Given the description of an element on the screen output the (x, y) to click on. 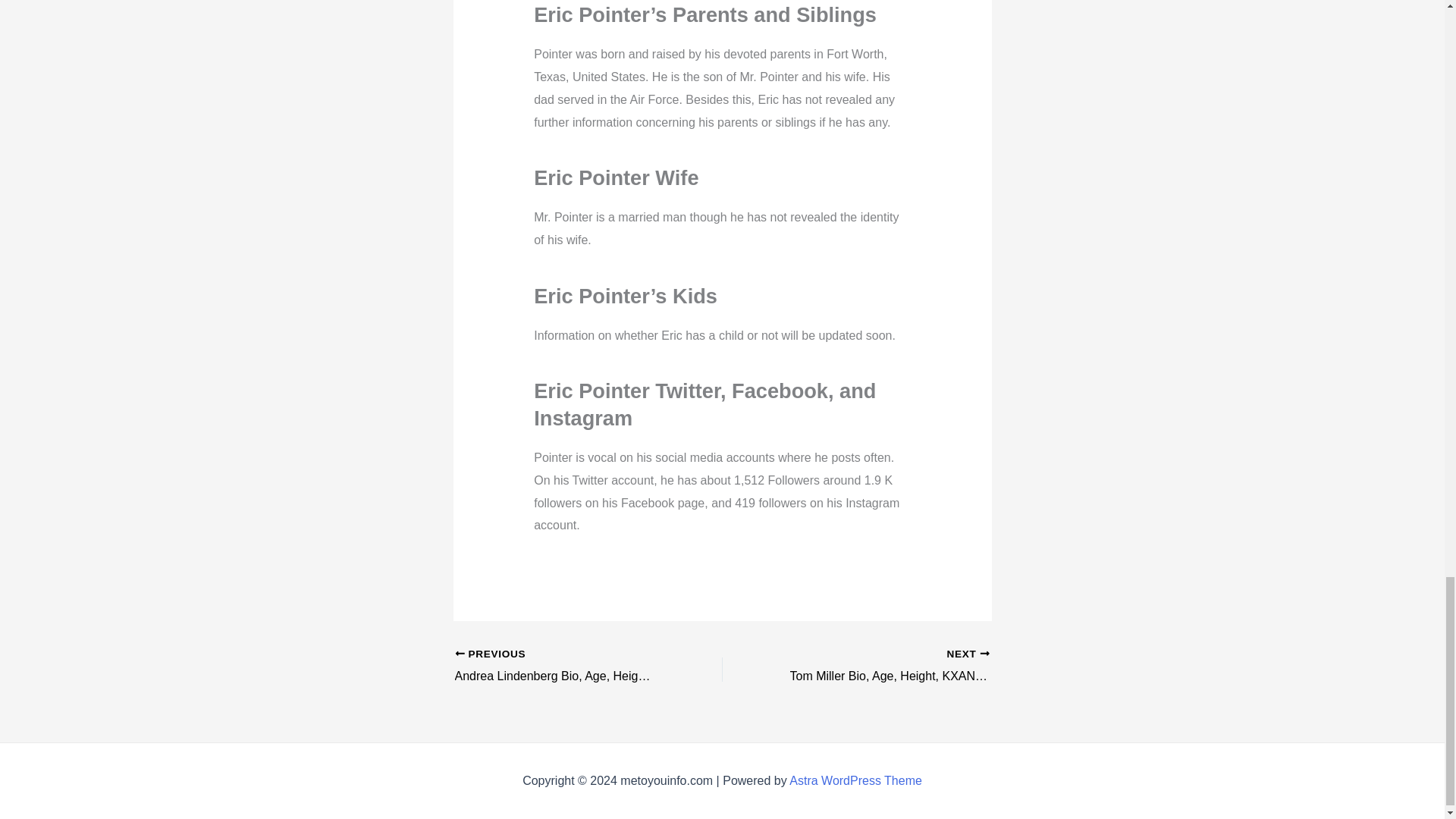
Astra WordPress Theme (855, 780)
